Given the description of an element on the screen output the (x, y) to click on. 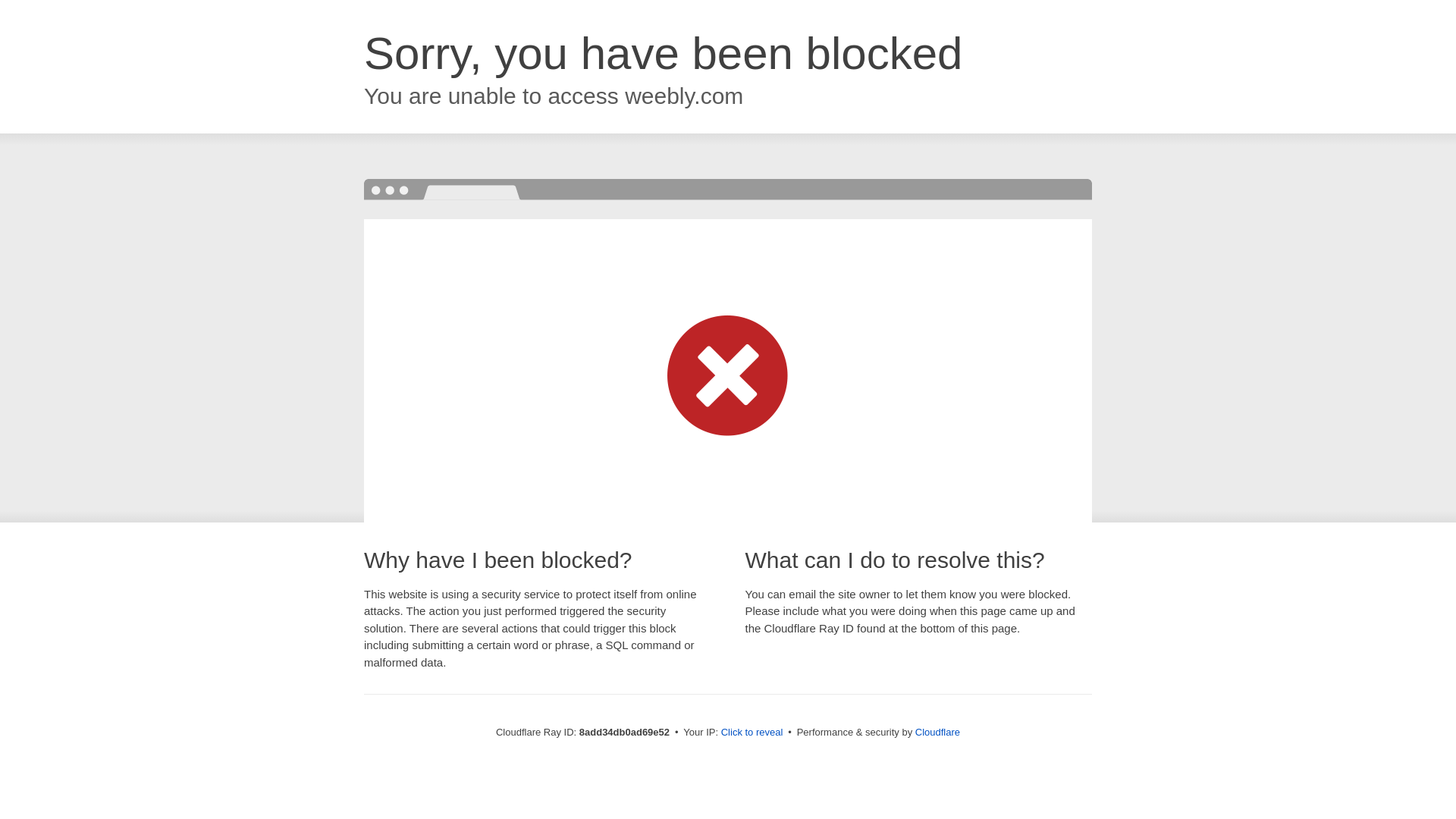
Cloudflare (937, 731)
Click to reveal (751, 732)
